Given the description of an element on the screen output the (x, y) to click on. 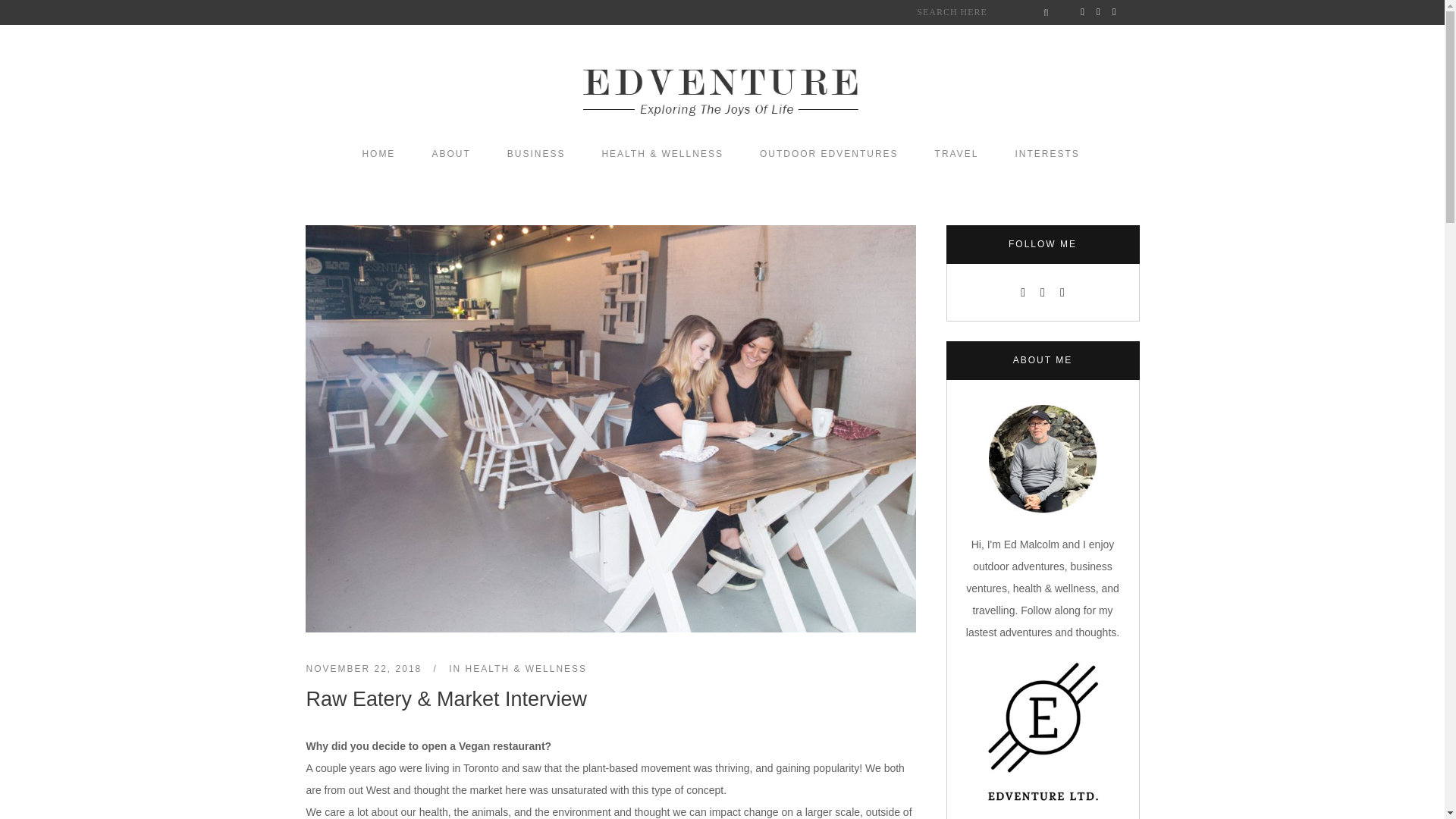
BUSINESS (536, 153)
ABOUT (450, 153)
OUTDOOR EDVENTURES (829, 153)
TRAVEL (957, 153)
INTERESTS (1046, 153)
HOME (378, 153)
